Given the description of an element on the screen output the (x, y) to click on. 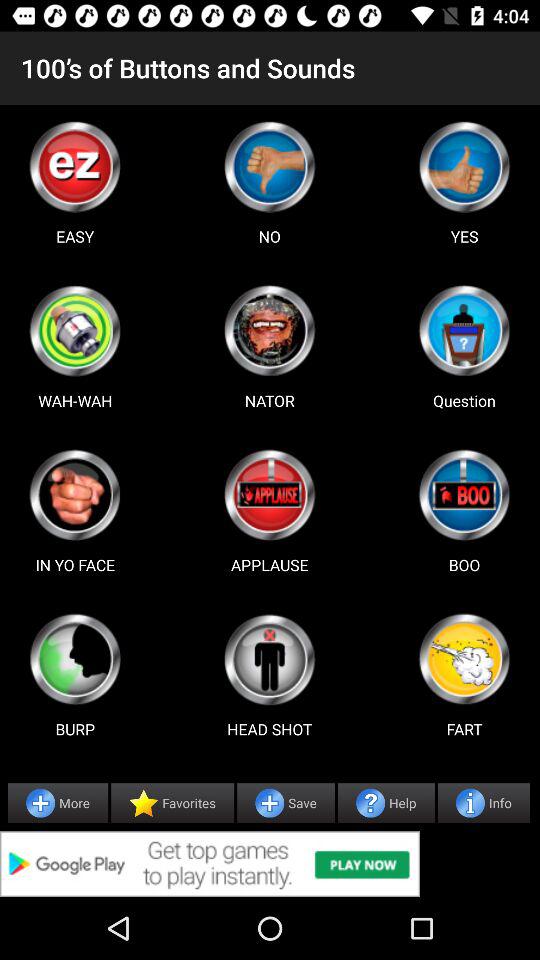
game page (75, 330)
